Given the description of an element on the screen output the (x, y) to click on. 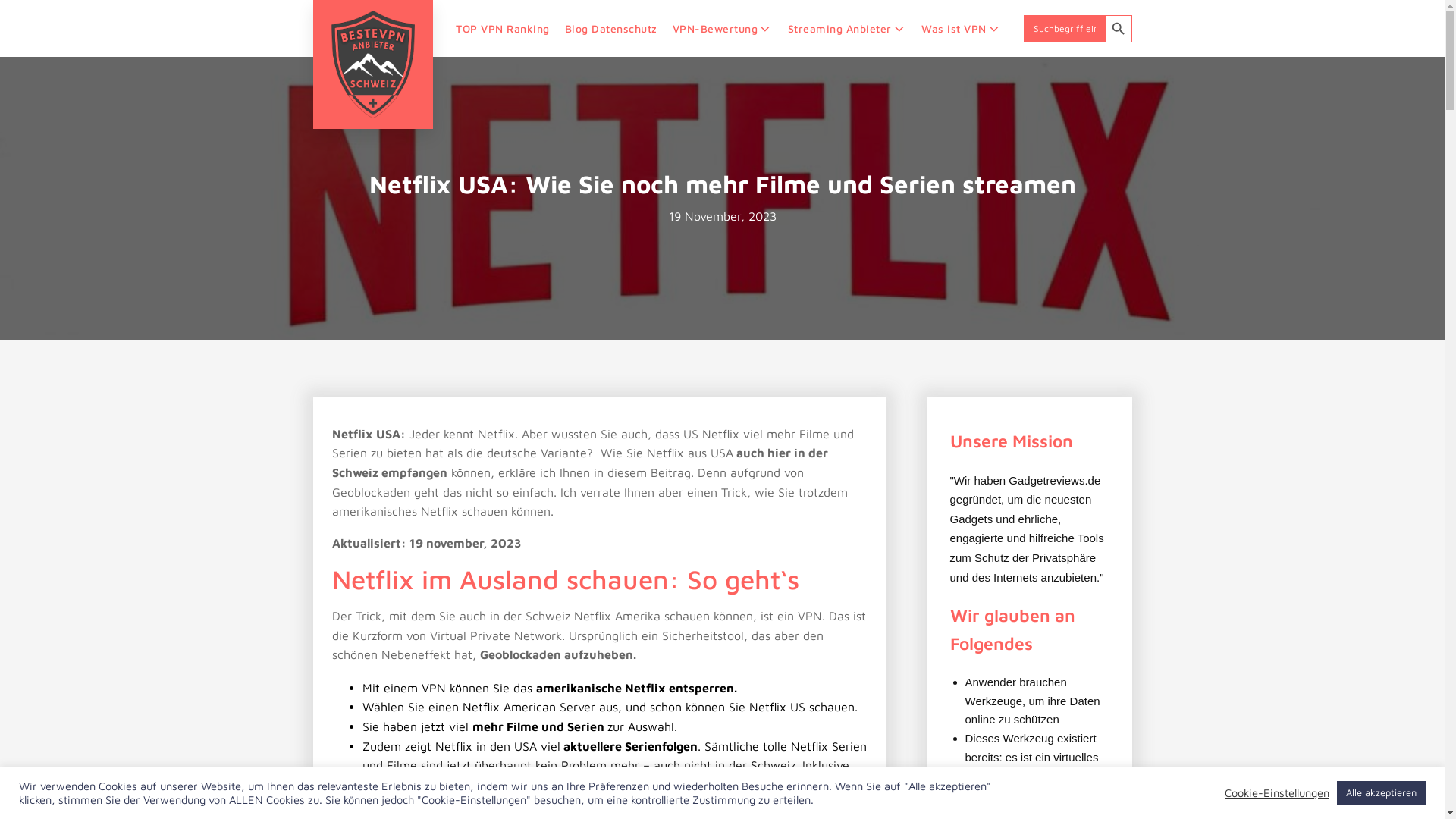
Was ist VPN Element type: text (960, 28)
VPN-Bewertung Element type: text (722, 28)
Cookie-Einstellungen Element type: text (1276, 792)
Search Button Element type: text (1117, 28)
TOP VPN Ranking Element type: text (502, 28)
Alle akzeptieren Element type: text (1380, 792)
Streaming Anbieter Element type: text (847, 28)
Blog Datenschutz Element type: text (611, 28)
